Given the description of an element on the screen output the (x, y) to click on. 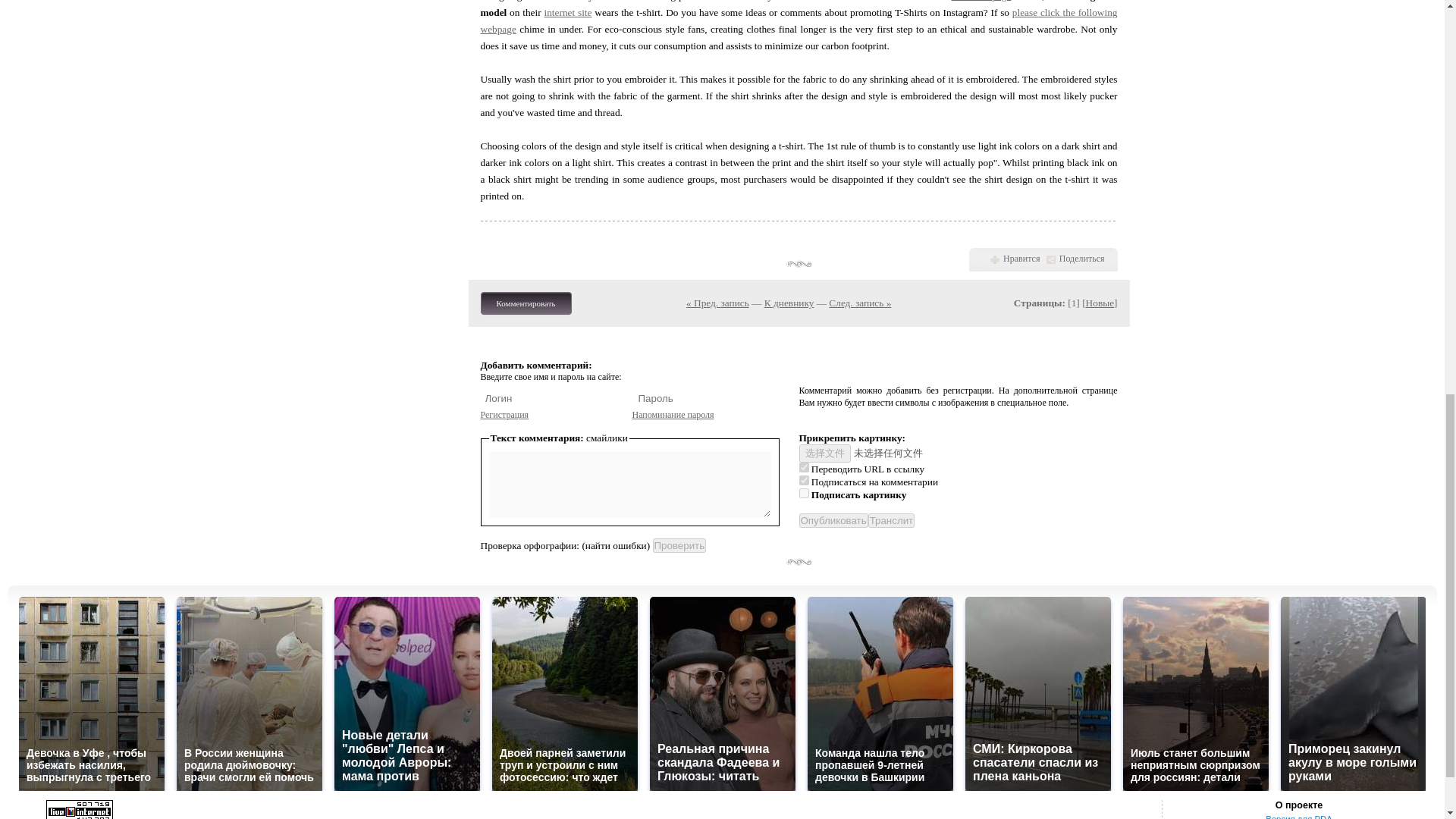
yes (804, 467)
please click the following webpage (799, 20)
internet site (567, 12)
1 (804, 492)
Read webpage (980, 0)
yes (804, 480)
